Given the description of an element on the screen output the (x, y) to click on. 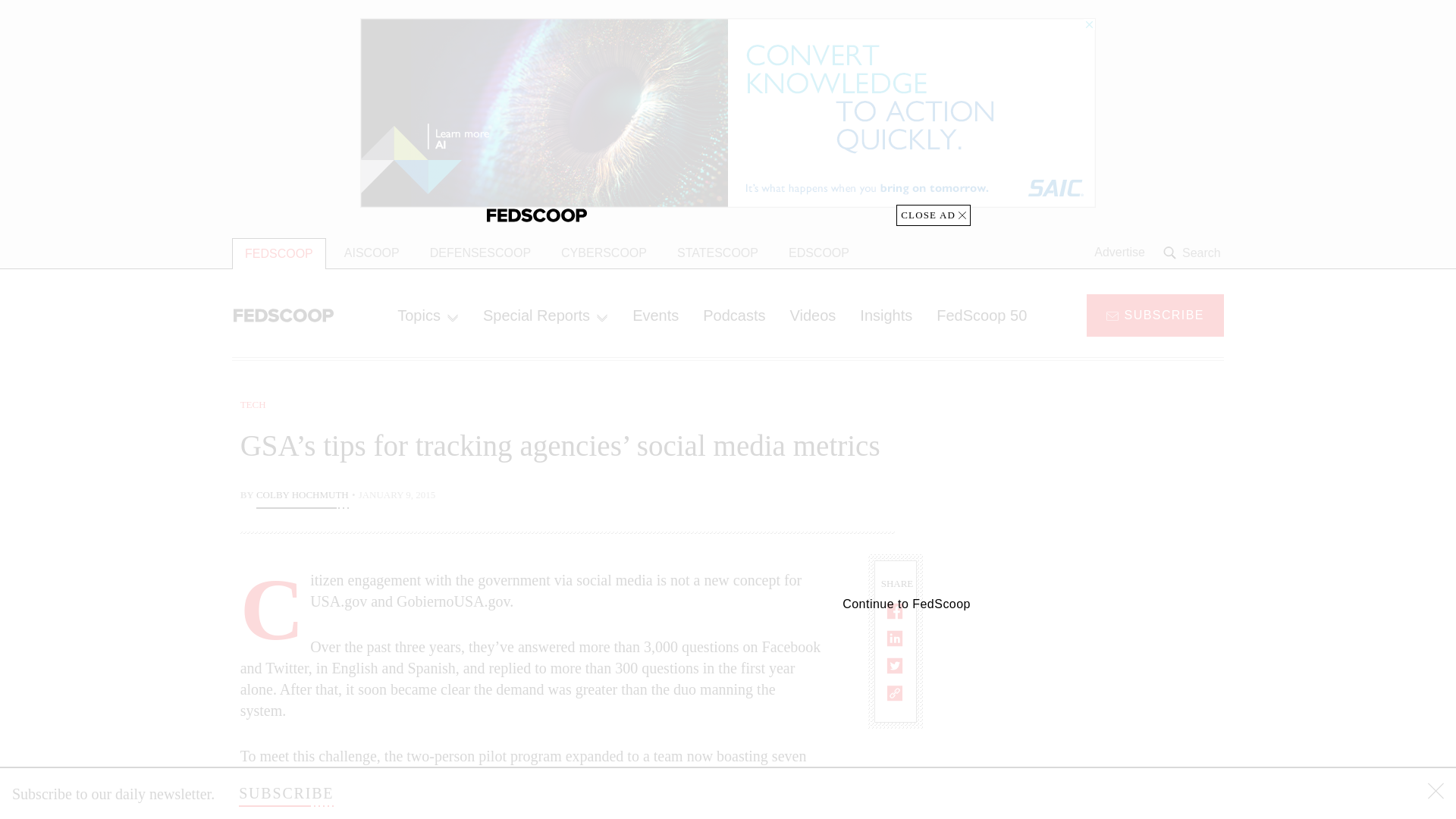
Search (1193, 252)
FEDSCOOP (278, 253)
Special Reports (545, 315)
3rd party ad content (1101, 705)
3rd party ad content (1101, 492)
DEFENSESCOOP (480, 253)
CYBERSCOOP (603, 253)
STATESCOOP (717, 253)
Videos (812, 315)
Advertise (1119, 252)
Colby Hochmuth (302, 496)
Insights (885, 315)
AISCOOP (371, 253)
EDSCOOP (818, 253)
